Given the description of an element on the screen output the (x, y) to click on. 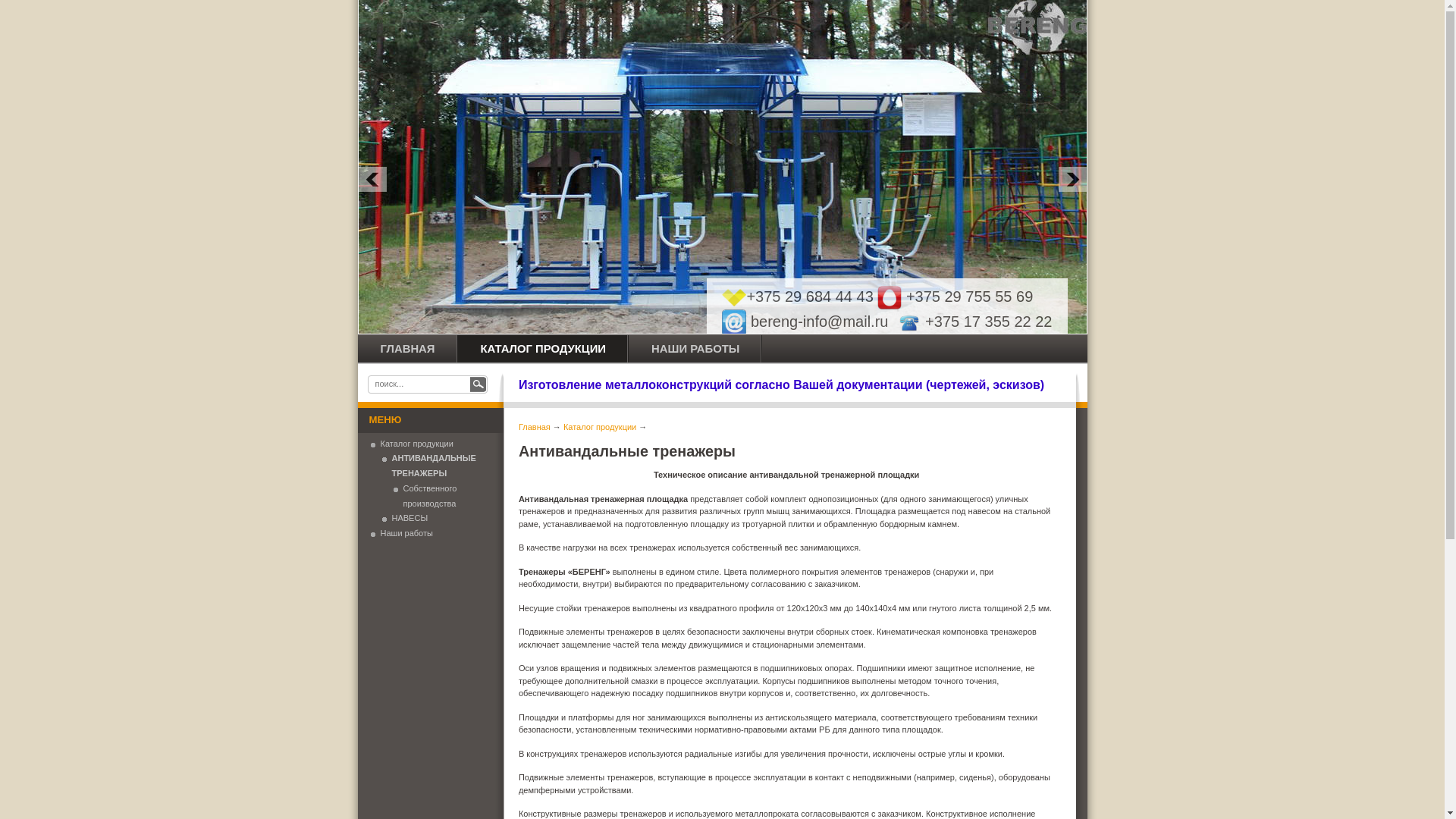
  Element type: text (478, 383)
